Given the description of an element on the screen output the (x, y) to click on. 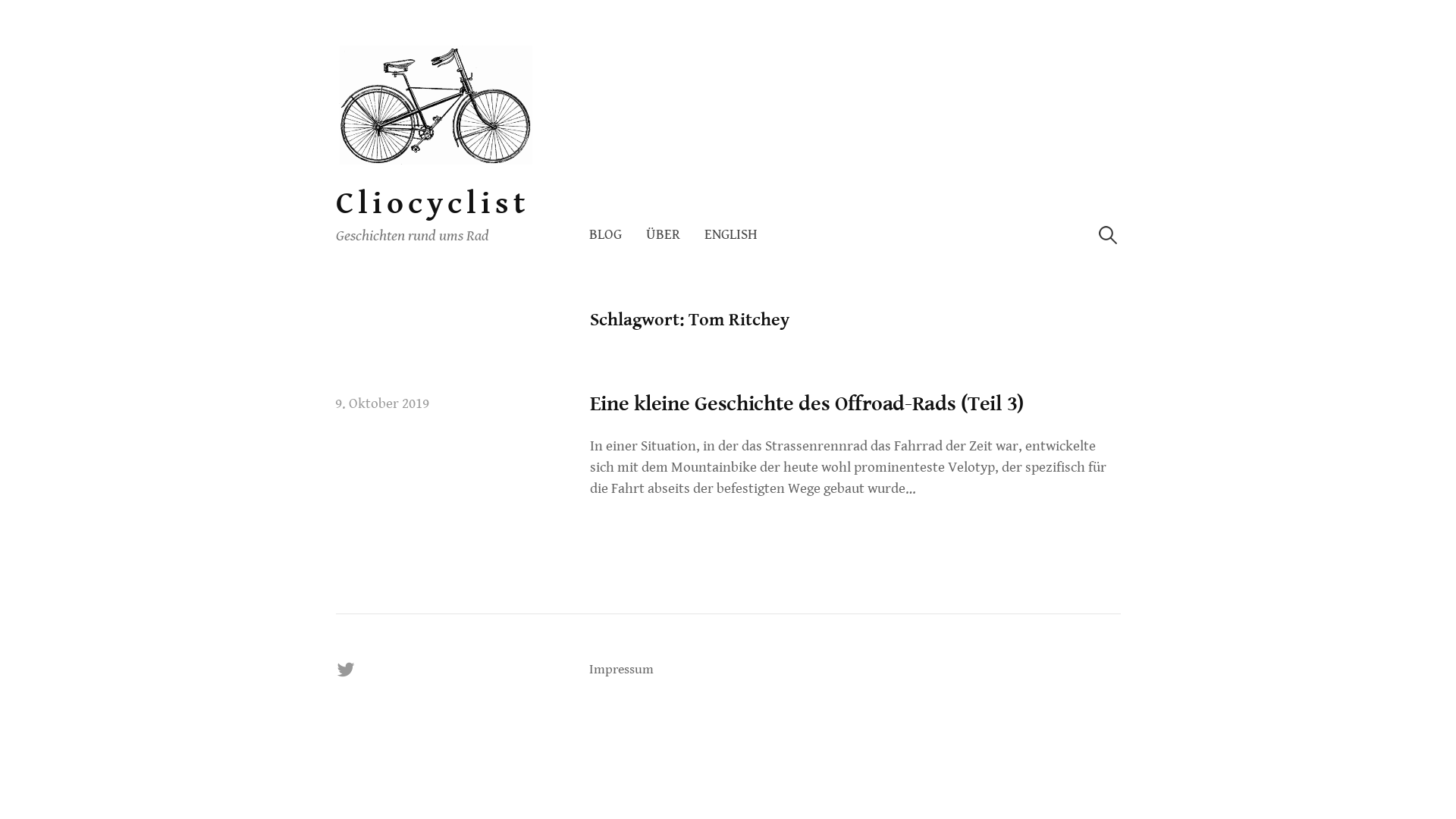
Twitter Element type: text (344, 669)
Suche Element type: text (19, 18)
9. Oktober 2019 Element type: text (382, 403)
Cliocyclist Element type: text (432, 203)
Skip to content Element type: text (335, 44)
Impressum Element type: text (621, 669)
BLOG Element type: text (611, 234)
Eine kleine Geschichte des Offroad-Rads (Teil 3) Element type: text (806, 404)
ENGLISH Element type: text (724, 234)
